Given the description of an element on the screen output the (x, y) to click on. 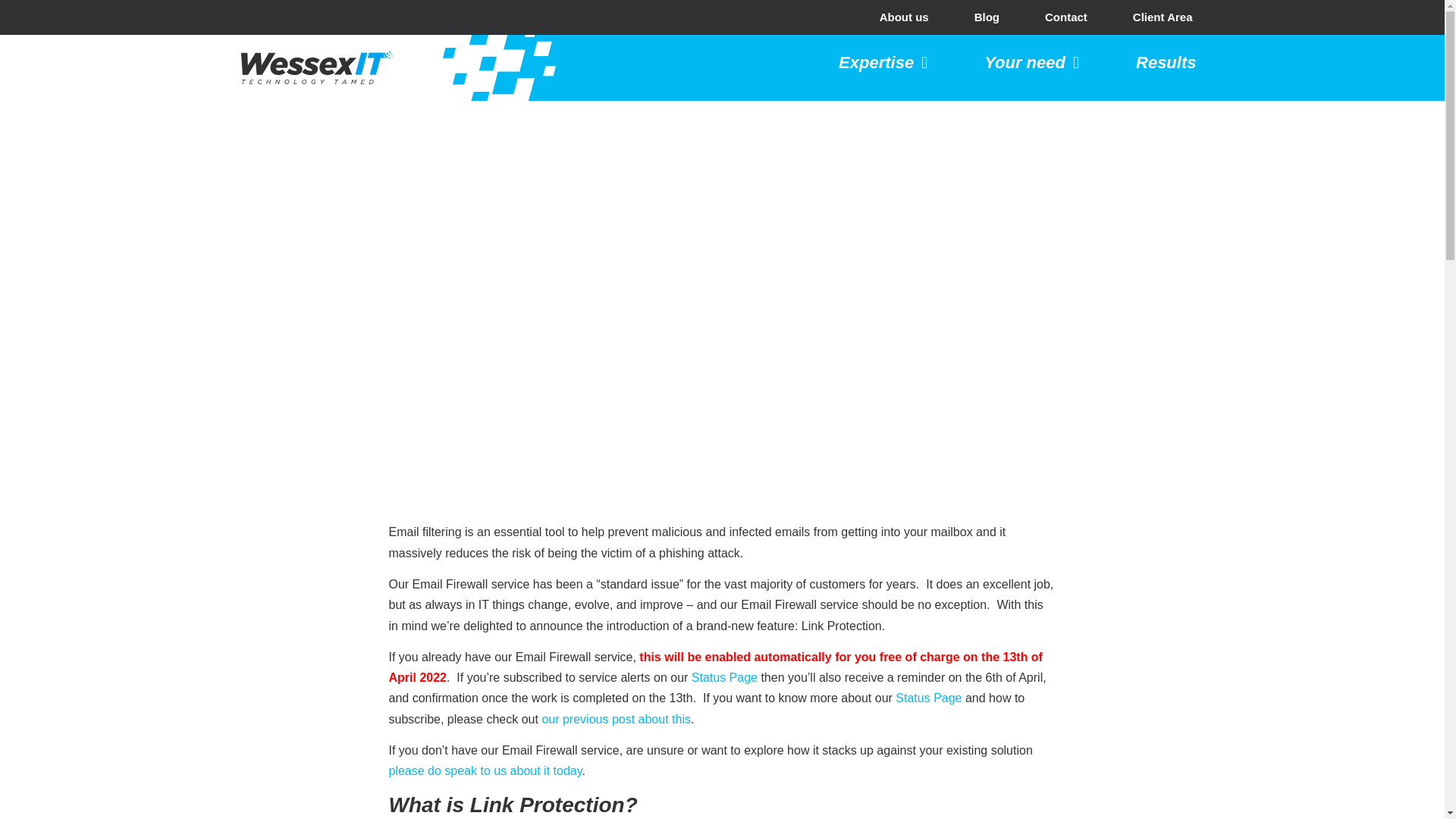
Blog (987, 17)
Status Page (927, 697)
Client Area (1162, 17)
Results (1165, 62)
please do speak to us about it today (484, 770)
Contact (1065, 17)
Your need (1031, 62)
Status Page (724, 676)
our previous post about this (615, 718)
About us (904, 17)
